Given the description of an element on the screen output the (x, y) to click on. 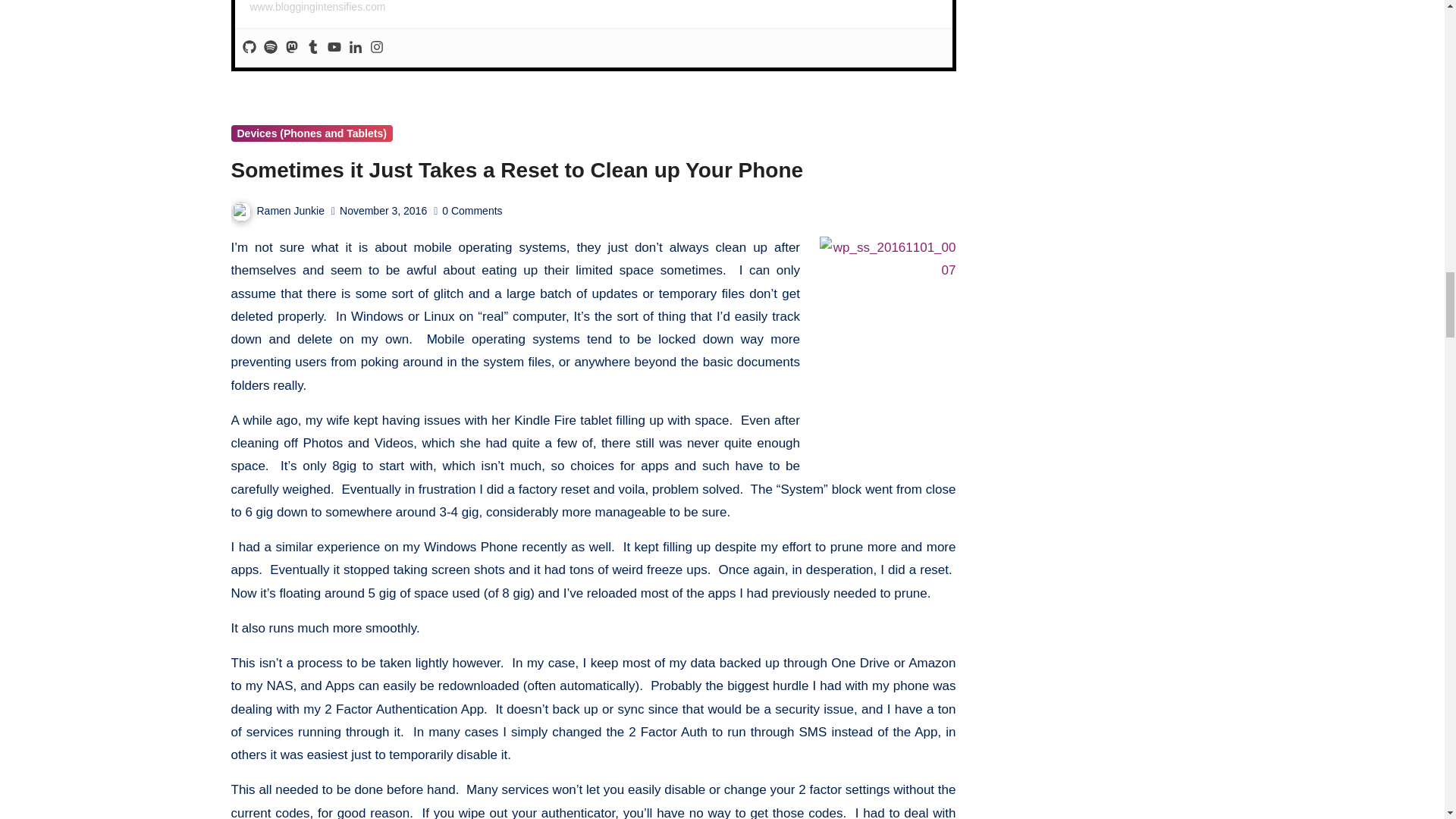
November 3, 2016 (382, 210)
www.bloggingintensifies.com (317, 6)
Ramen Junkie (277, 210)
Sometimes it Just Takes a Reset to Clean up Your Phone (516, 169)
0 Comments (472, 210)
